Given the description of an element on the screen output the (x, y) to click on. 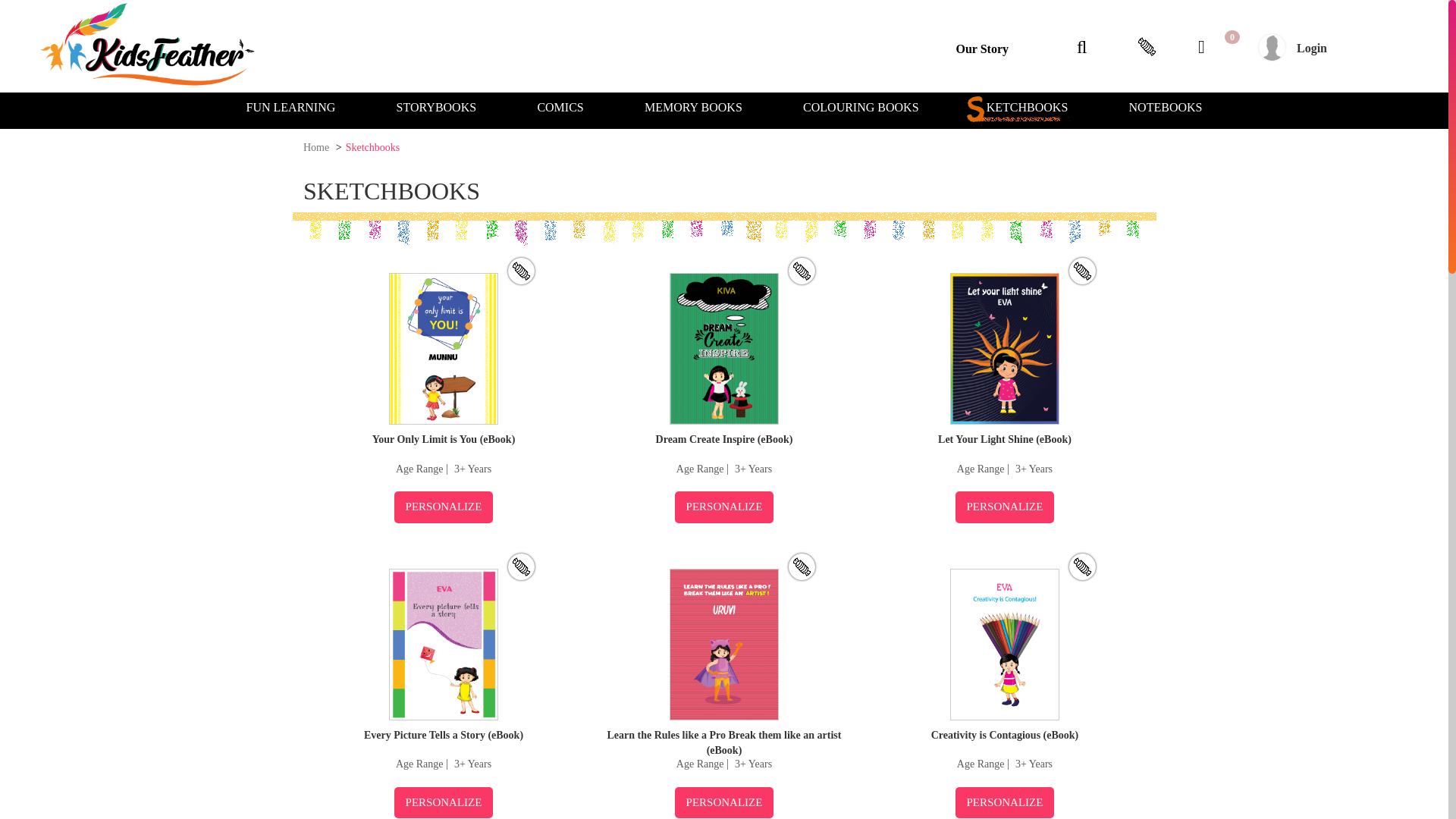
SKETCHBOOKS (1023, 109)
0 (1205, 49)
Add to wishlist (802, 566)
Add to wishlist (1082, 270)
Add to wishlist (521, 566)
PERSONALIZE (443, 802)
COMICS (560, 109)
Add to wishlist (521, 270)
Home (315, 147)
Add to wishlist (802, 270)
STORYBOOKS (435, 109)
PERSONALIZE (443, 506)
COLOURING BOOKS (860, 109)
PERSONALIZE (724, 802)
MEMORY BOOKS (693, 109)
